Given the description of an element on the screen output the (x, y) to click on. 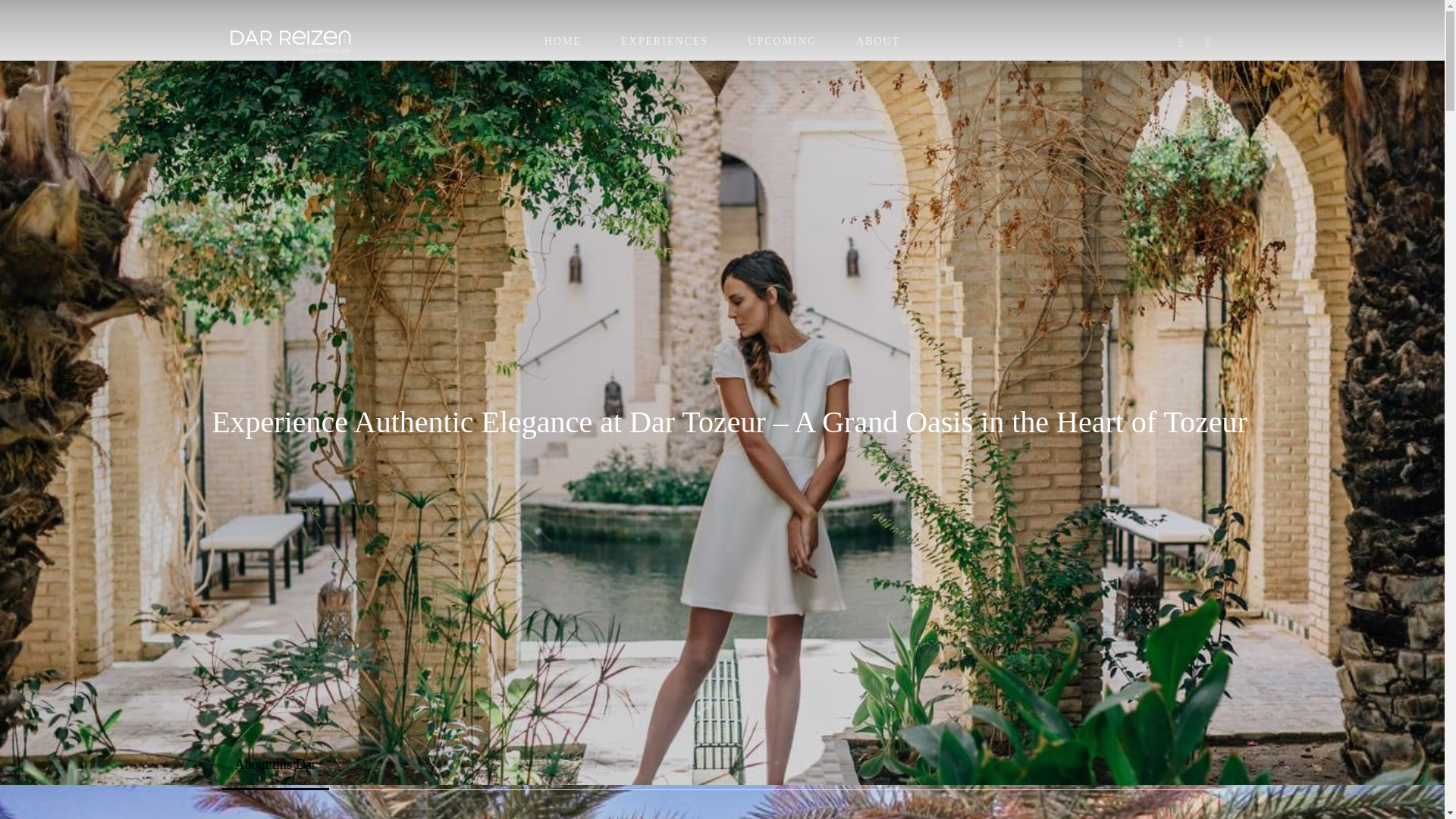
HOME (562, 41)
ABOUT (877, 41)
About this Dar (275, 764)
UPCOMING (782, 41)
whatsapp (1209, 41)
instagram (1181, 41)
EXPERIENCES (664, 41)
